Given the description of an element on the screen output the (x, y) to click on. 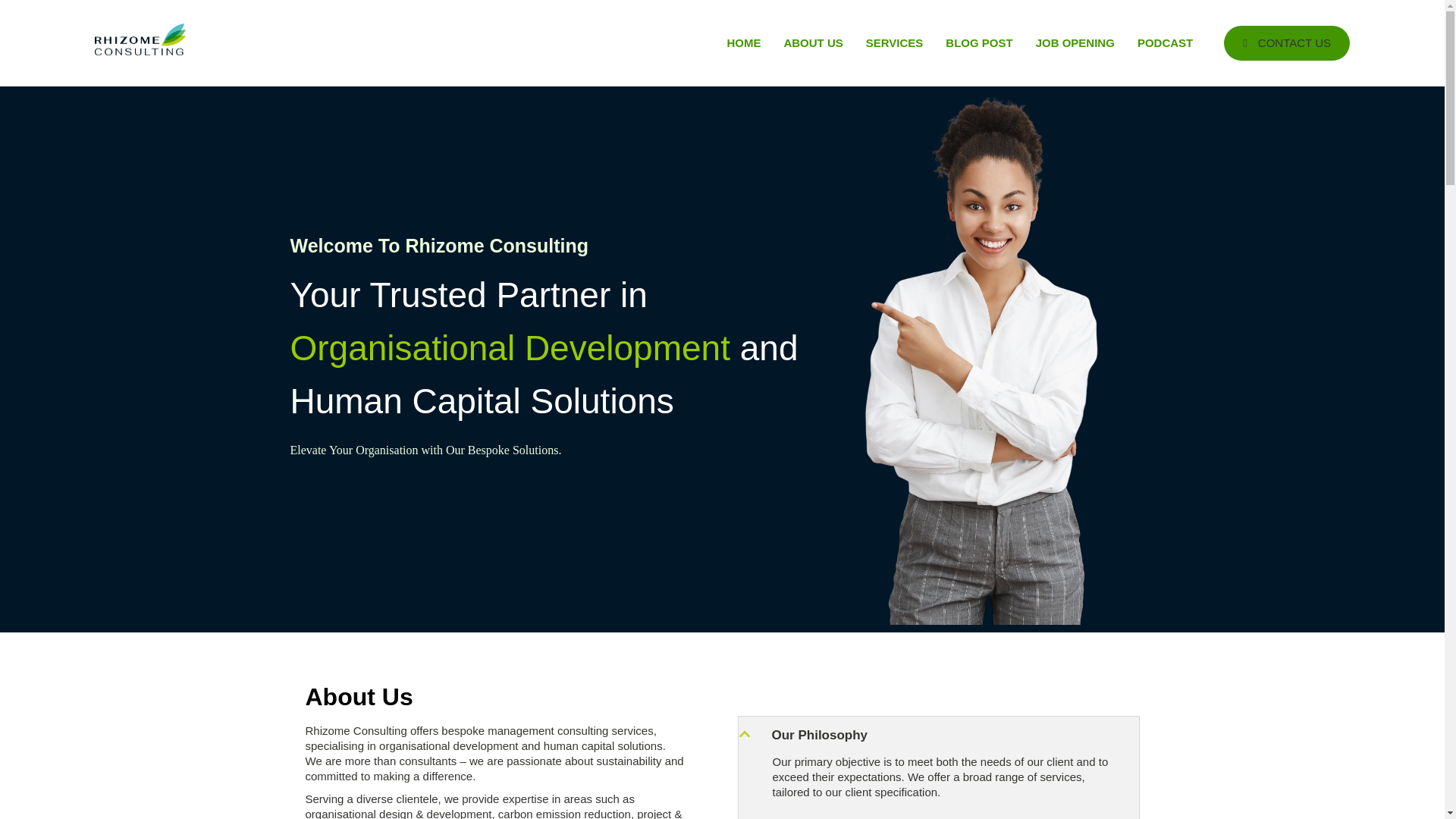
JOB OPENING (1075, 42)
HOME (742, 42)
PODCAST (1164, 42)
SERVICES (894, 42)
Our Philosophy (819, 735)
CONTACT US (1286, 42)
ABOUT US (812, 42)
BLOG POST (978, 42)
